Given the description of an element on the screen output the (x, y) to click on. 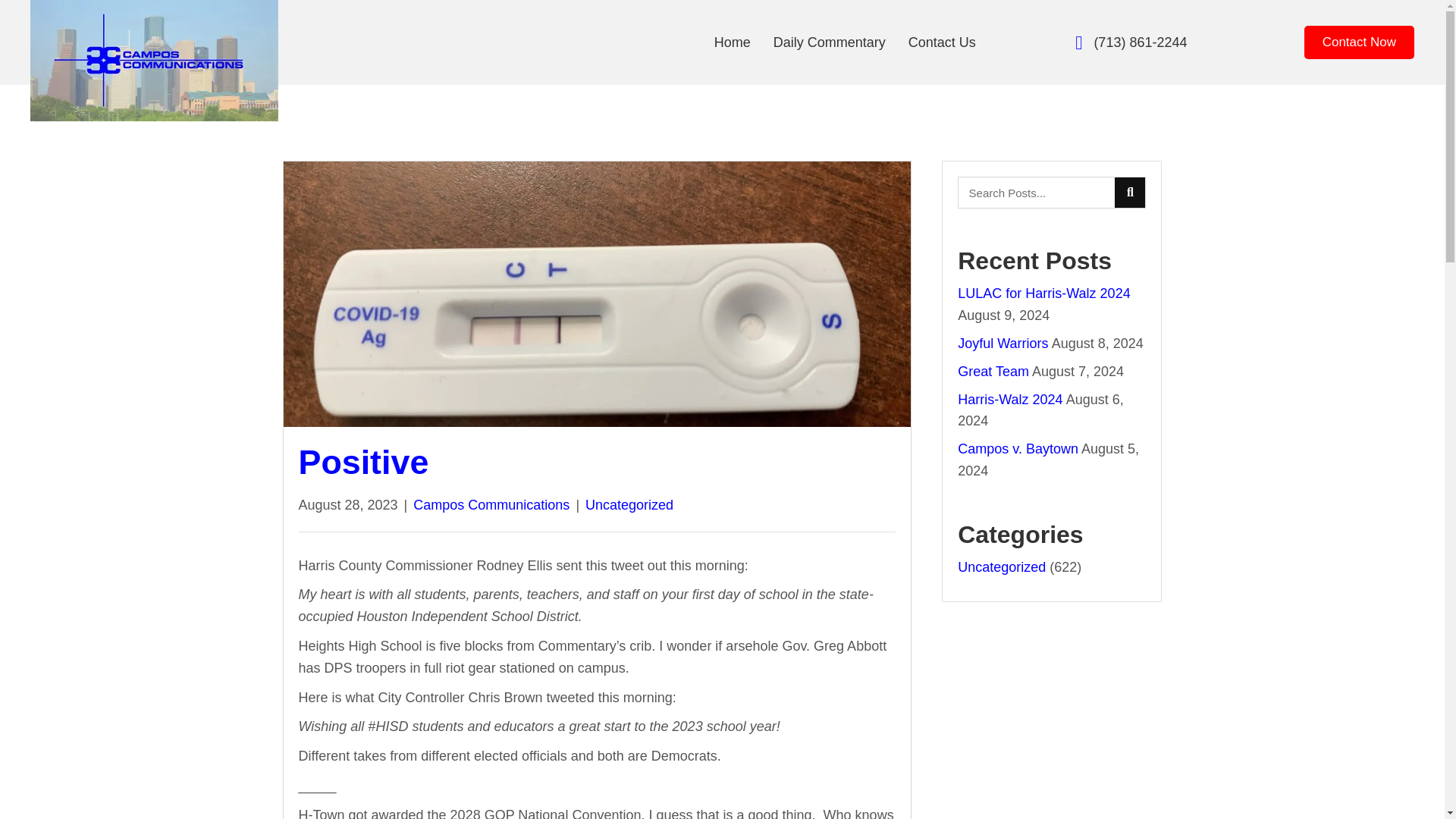
Search (1036, 192)
Uncategorized (1001, 566)
Harris-Walz 2024 (1010, 399)
Campos v. Baytown (1018, 448)
Contact Us (941, 42)
Uncategorized (628, 504)
Contact Now (1358, 41)
skyline9 (154, 60)
Daily Commentary (828, 42)
LULAC for Harris-Walz 2024 (1043, 293)
